Given the description of an element on the screen output the (x, y) to click on. 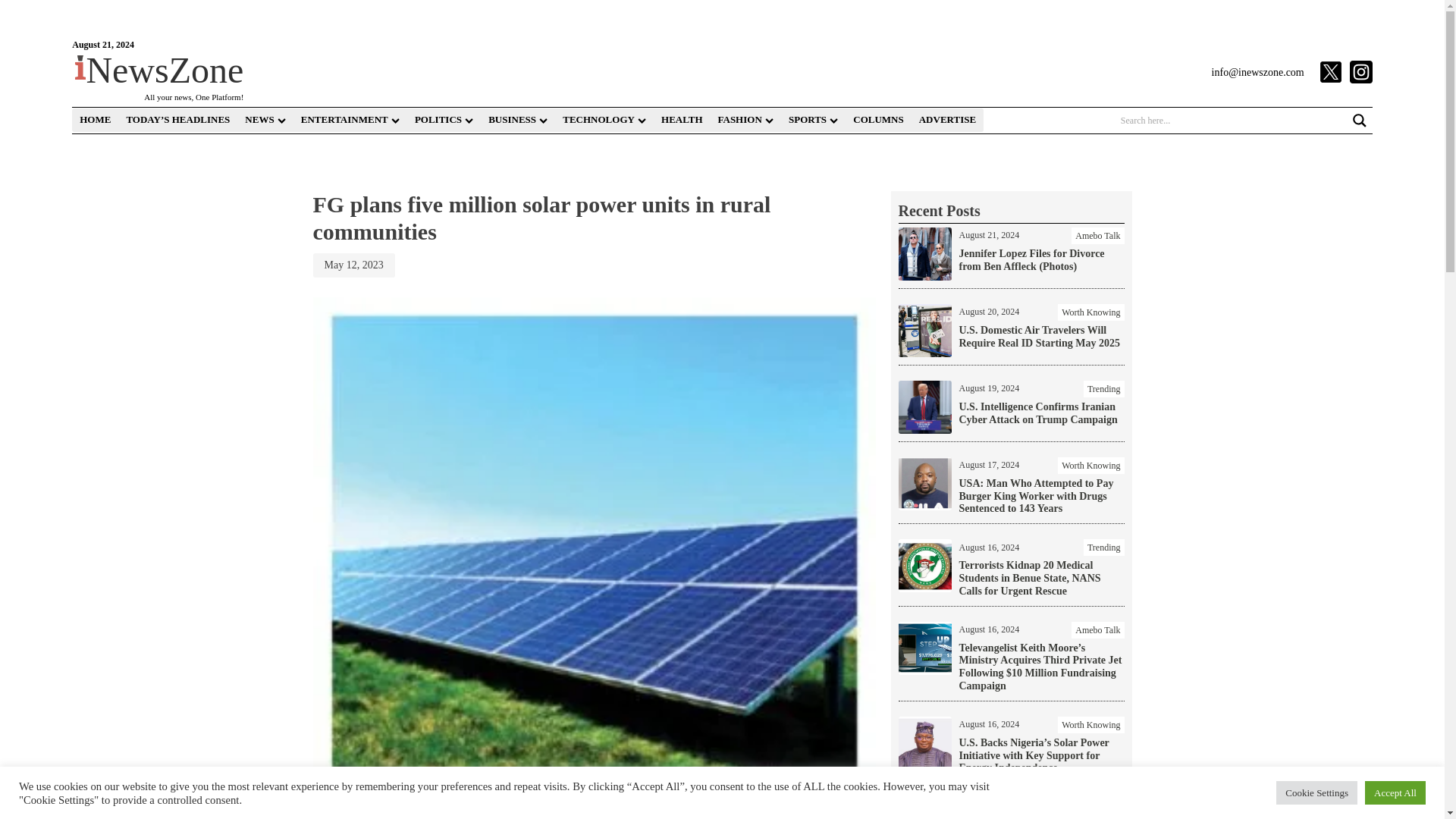
HOME (94, 119)
ENTERTAINMENT (350, 119)
NEWS (264, 119)
NewsZone (159, 70)
